Given the description of an element on the screen output the (x, y) to click on. 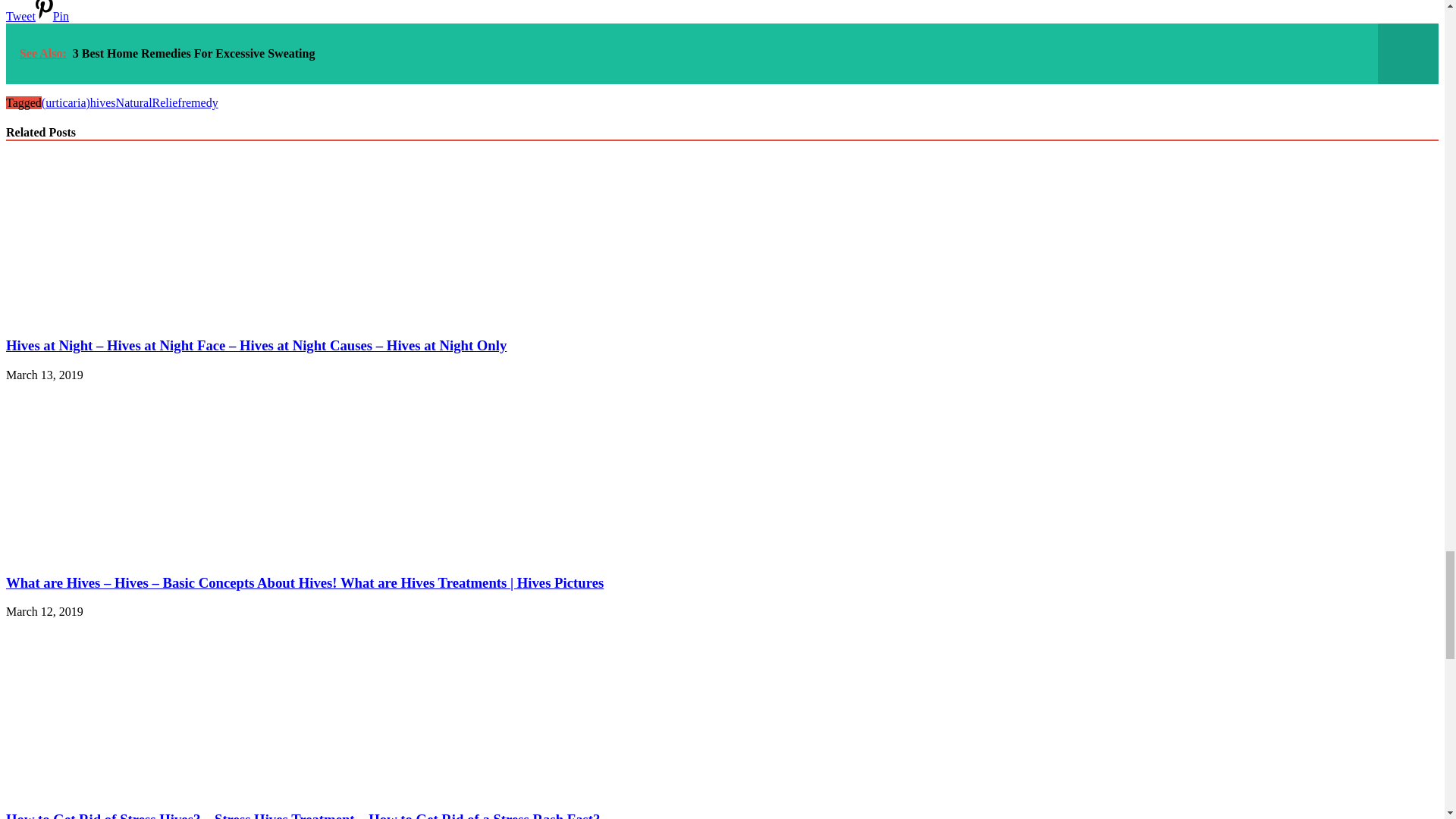
Share on Pinterest (51, 15)
